Given the description of an element on the screen output the (x, y) to click on. 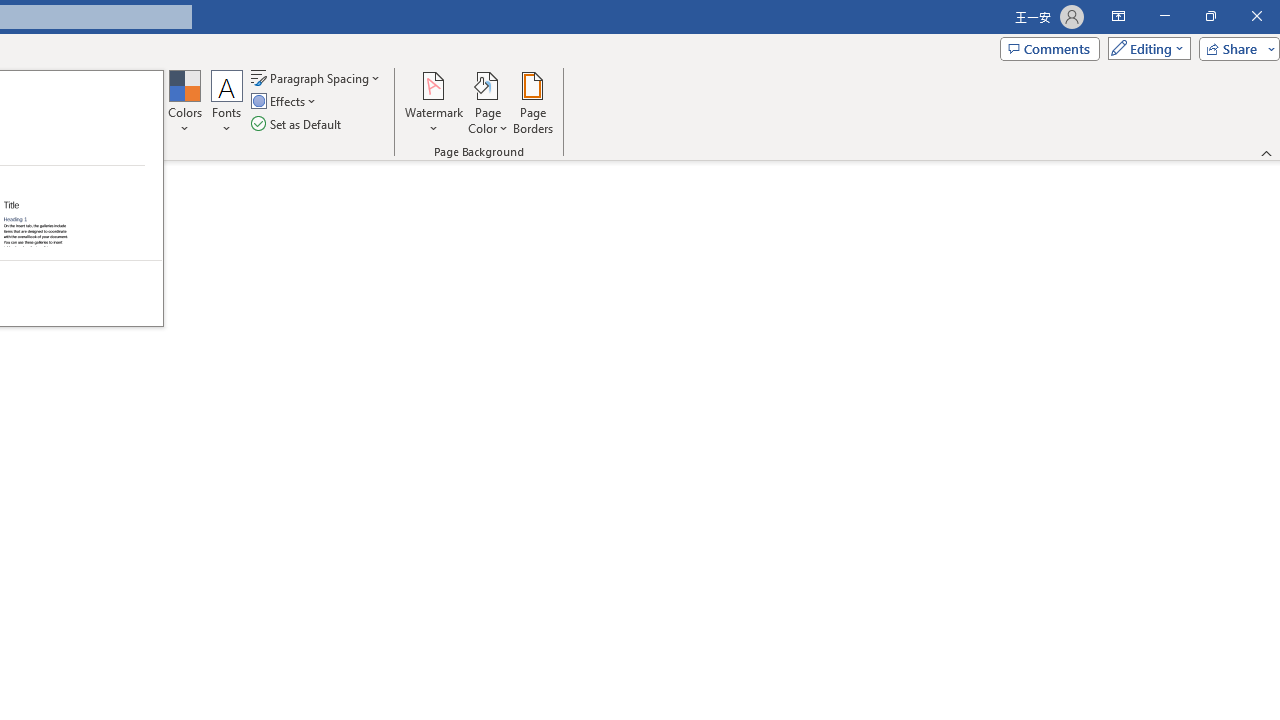
Page Borders... (532, 102)
Page Color (487, 102)
Colors (184, 102)
Effects (285, 101)
Fonts (227, 102)
Watermark (434, 102)
